Given the description of an element on the screen output the (x, y) to click on. 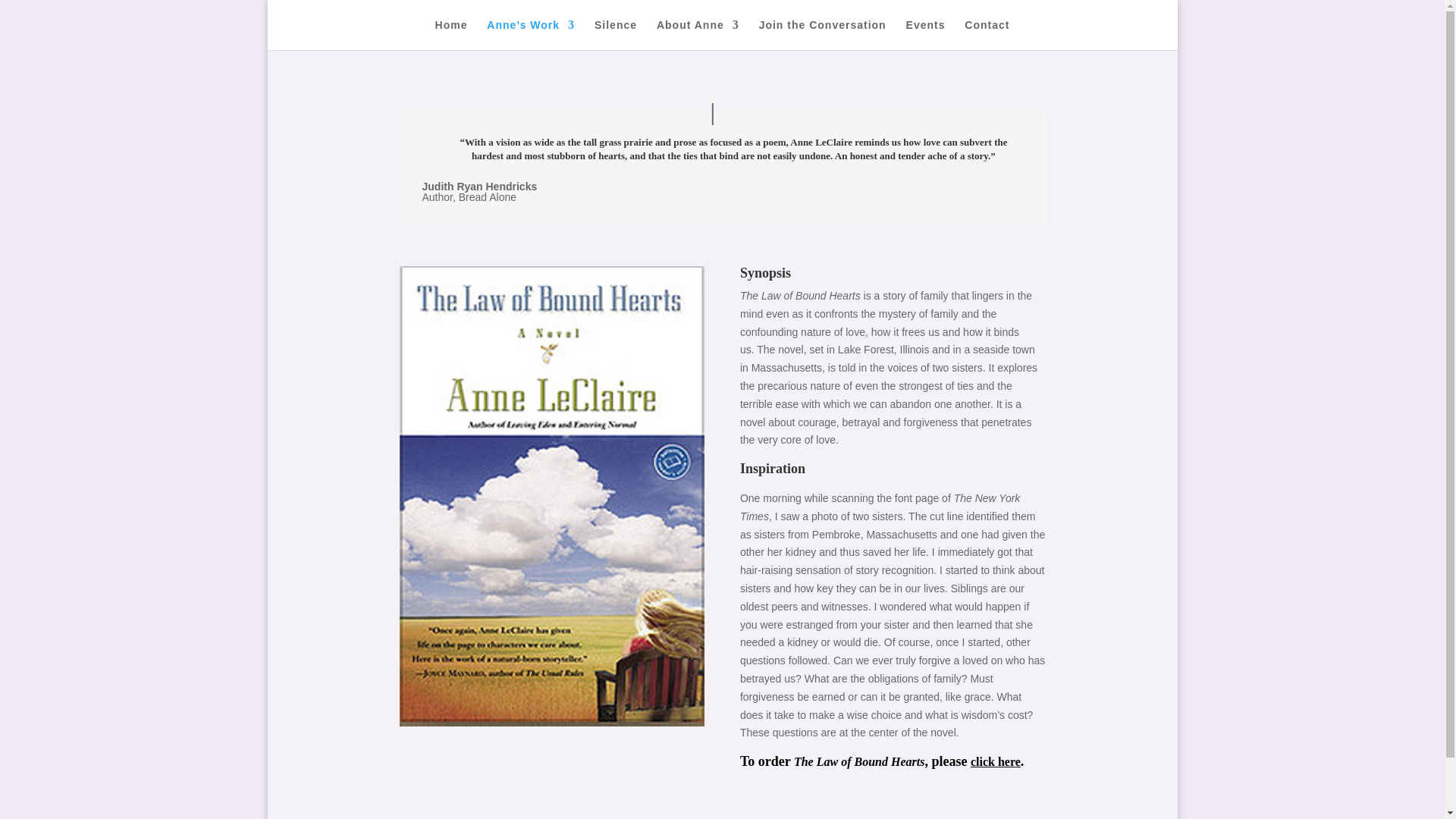
click here (995, 761)
Home (451, 34)
About Anne (697, 34)
Contact (986, 34)
Join the Conversation (822, 34)
Silence (615, 34)
Events (924, 34)
